Given the description of an element on the screen output the (x, y) to click on. 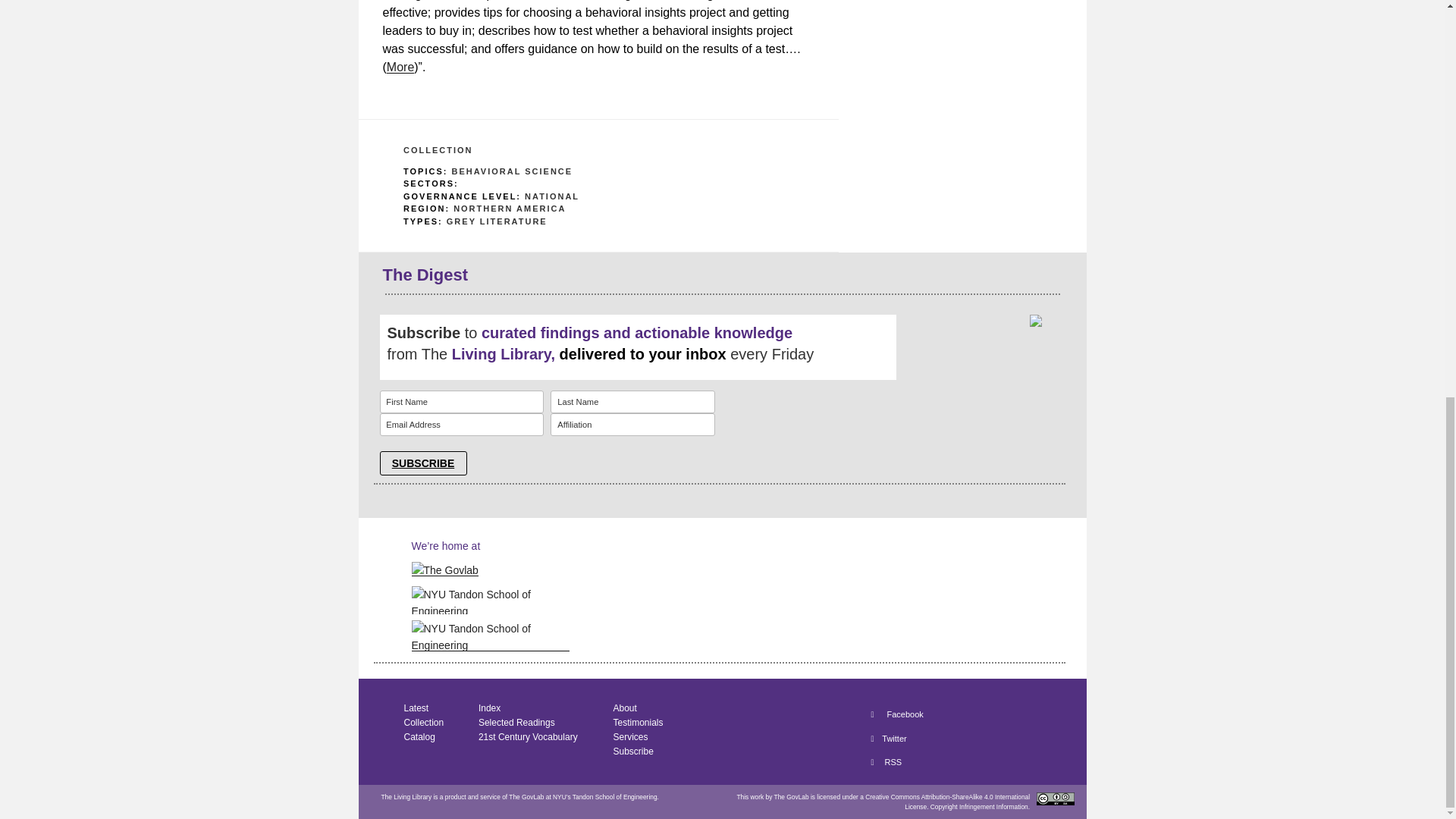
NATIONAL (551, 194)
NORTHERN AMERICA (509, 207)
GREY LITERATURE (496, 221)
More (400, 66)
SUBSCRIBE (421, 463)
BEHAVIORAL SCIENCE (511, 171)
COLLECTION (438, 149)
SUBSCRIBE (421, 463)
